Given the description of an element on the screen output the (x, y) to click on. 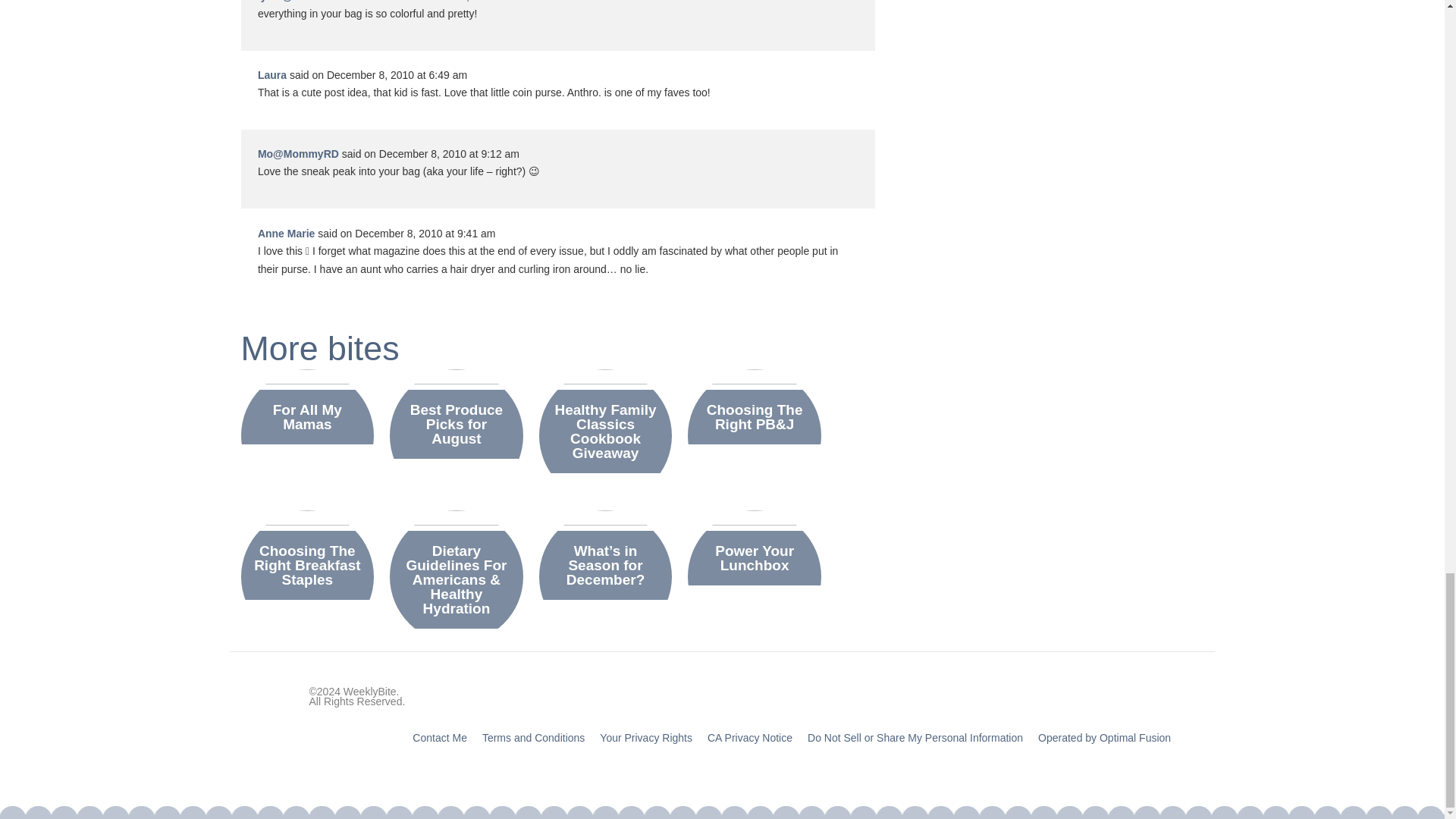
Laura (271, 74)
For All My Mamas (307, 416)
Best Produce Picks for August (457, 423)
Healthy Family Classics Cookbook Giveaway (605, 431)
Do Not Sell or Share My Personal Information (915, 737)
Anne Marie (285, 233)
